Given the description of an element on the screen output the (x, y) to click on. 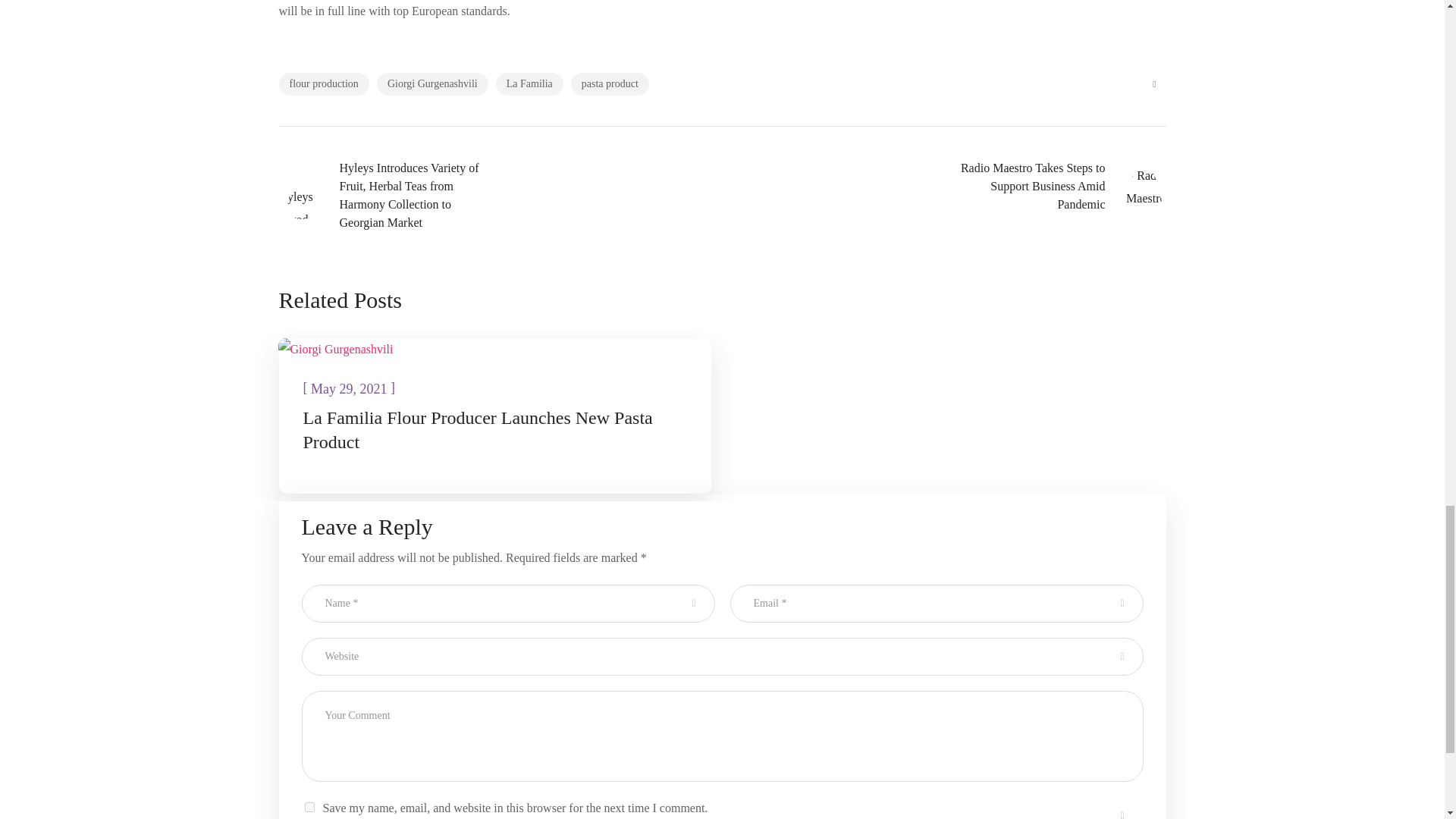
Radio Maestro Takes Steps to Support Business Amid Pandemic (1056, 187)
Website (721, 656)
yes (309, 807)
